Given the description of an element on the screen output the (x, y) to click on. 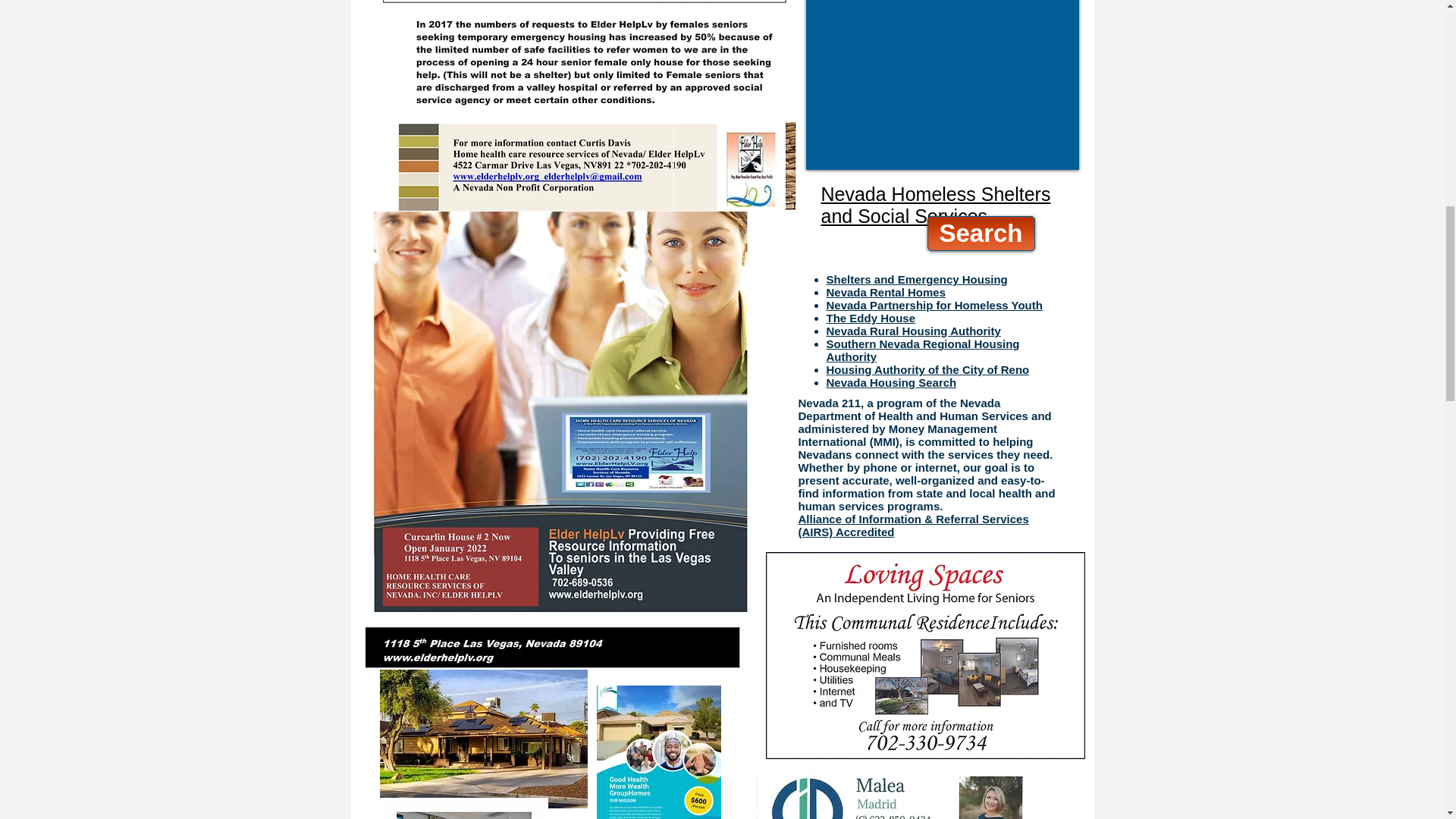
Nevada Rural Housing Authority (914, 330)
Southern Nevada Regional Housing Authority (923, 350)
Nevada Homeless Shelters and Social Services (935, 204)
Shelters and Emergency Housing (917, 278)
Nevada Housing Search (891, 382)
The Eddy House (871, 318)
Nevada Partnership for Homeless Youth (934, 305)
Nevada Rental Homes (886, 291)
Housing Authority of the City of Reno (928, 369)
External YouTube (940, 80)
